Given the description of an element on the screen output the (x, y) to click on. 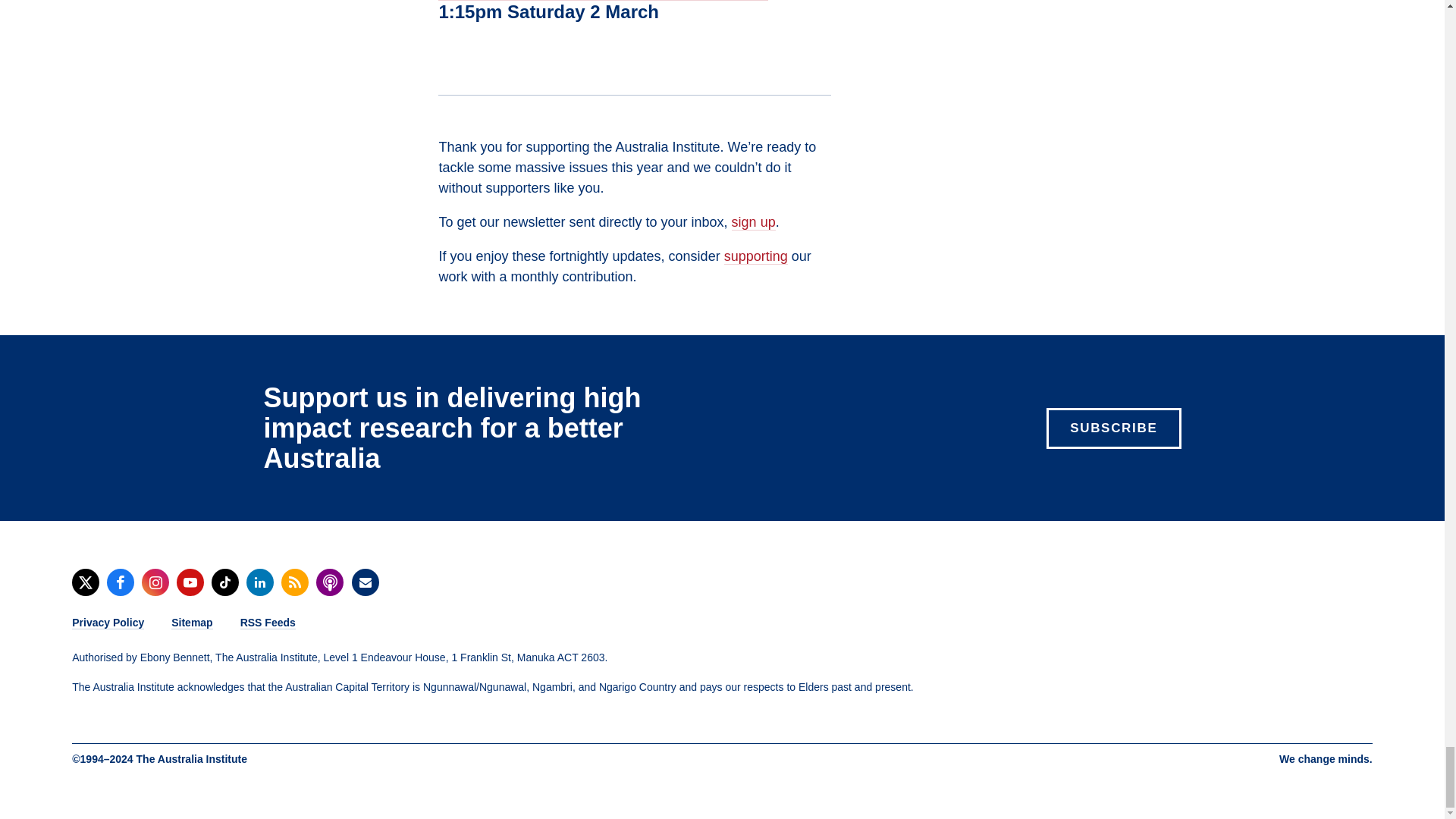
Follow us on Podcasts (329, 582)
Follow us on Facebook (119, 582)
Follow us on X (85, 582)
Follow us on LinkedIn (259, 582)
Follow us on Newsletters (365, 582)
Follow us on YouTube (189, 582)
Follow us on RSS (294, 582)
Follow us on TikTok (224, 582)
Follow us on Instagram (154, 582)
